Given the description of an element on the screen output the (x, y) to click on. 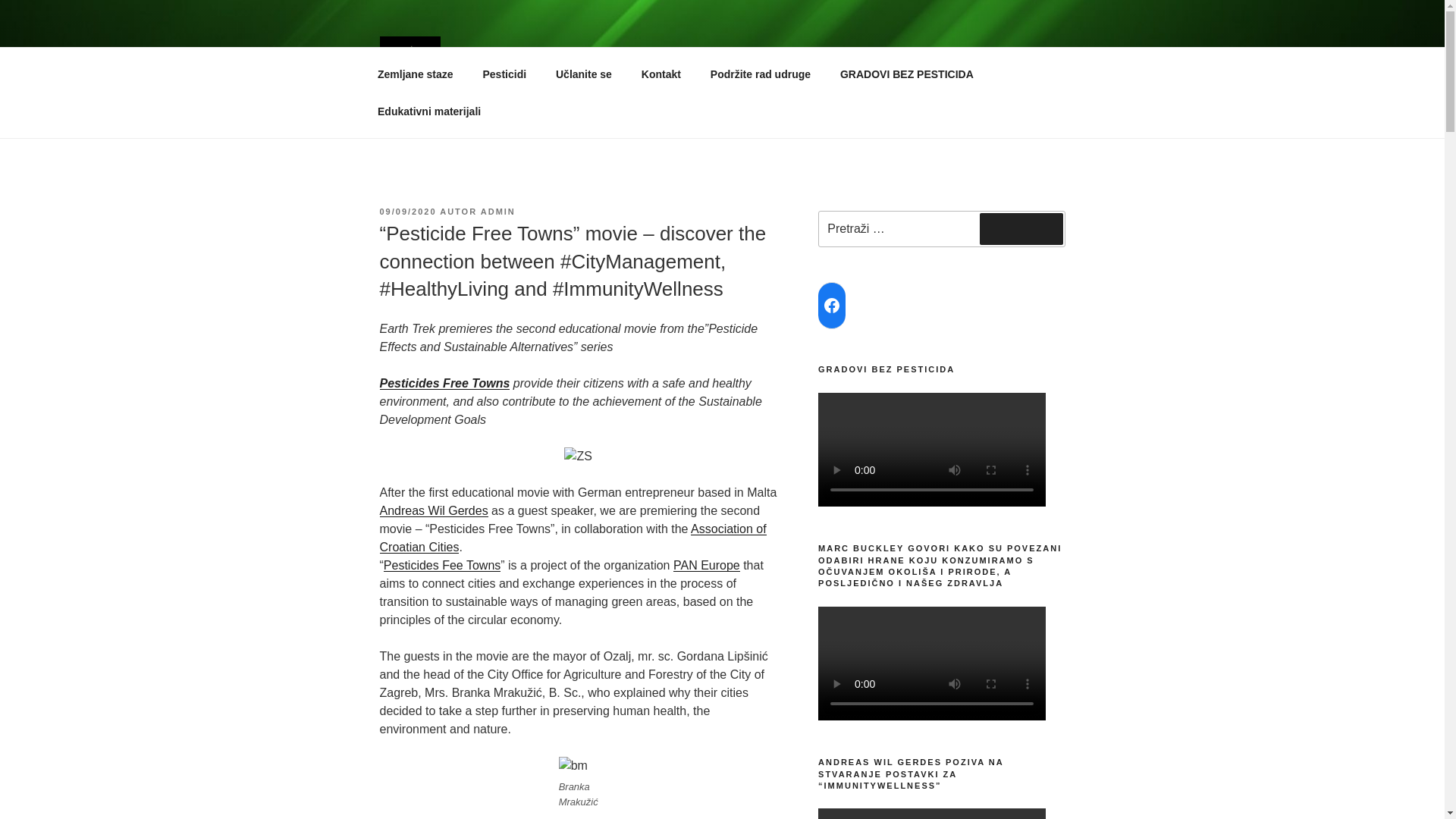
Andreas Wil Gerdes (432, 510)
GRADOVI BEZ PESTICIDA (907, 74)
Kontakt (660, 74)
Edukativni materijali (428, 110)
PAN Europe (705, 564)
Pesticidi (504, 74)
Association of Croatian Cities (571, 537)
Pesticides Free Towns (443, 382)
ADMIN (497, 211)
Zemljane staze (414, 74)
Pesticides Fee Towns (442, 564)
